Given the description of an element on the screen output the (x, y) to click on. 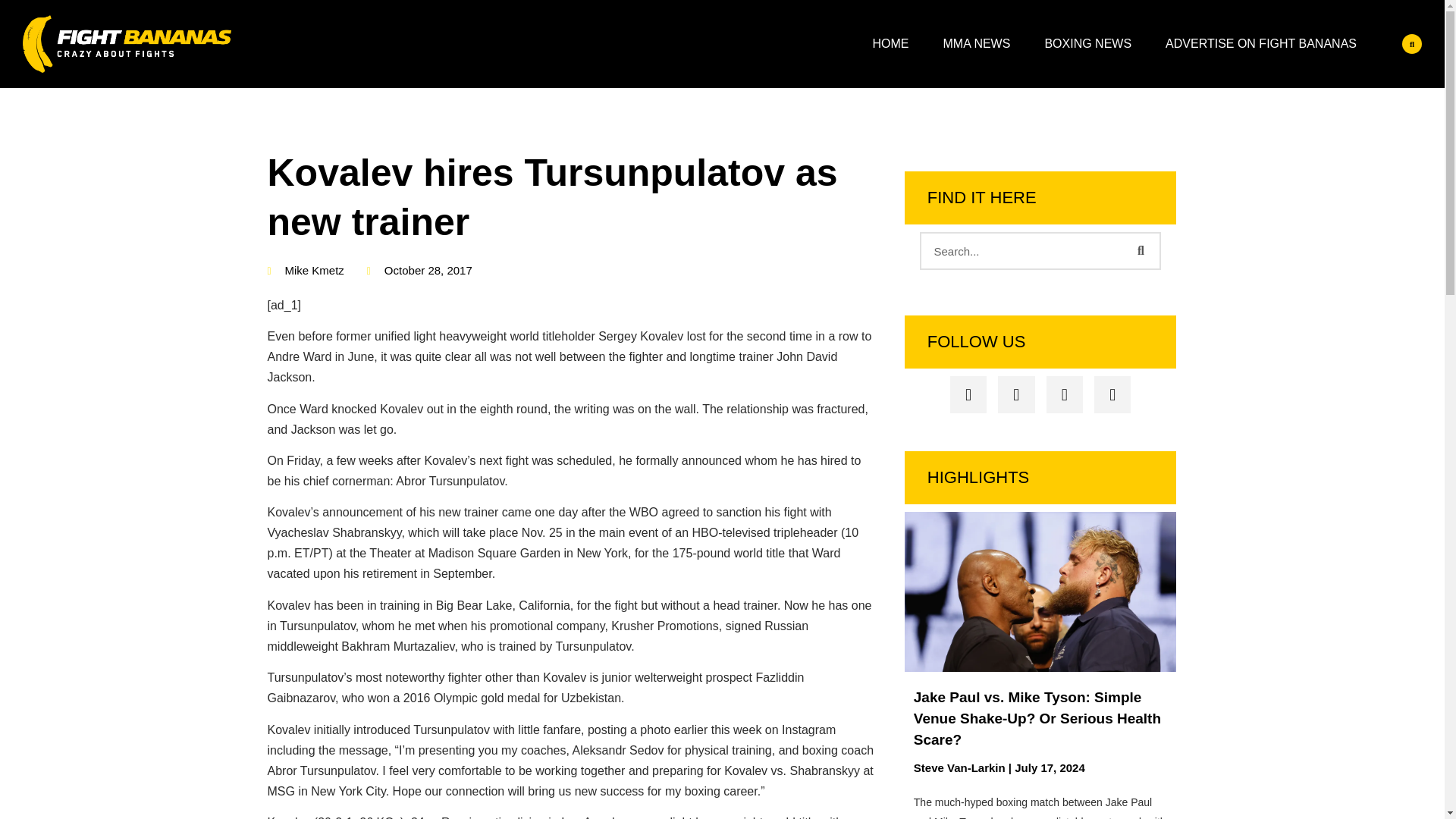
Search (1021, 250)
HOME (890, 43)
October 28, 2017 (418, 271)
MMA NEWS (977, 43)
ADVERTISE ON FIGHT BANANAS (1260, 43)
Search (1139, 250)
Mike Kmetz (304, 271)
BOXING NEWS (1088, 43)
